Given the description of an element on the screen output the (x, y) to click on. 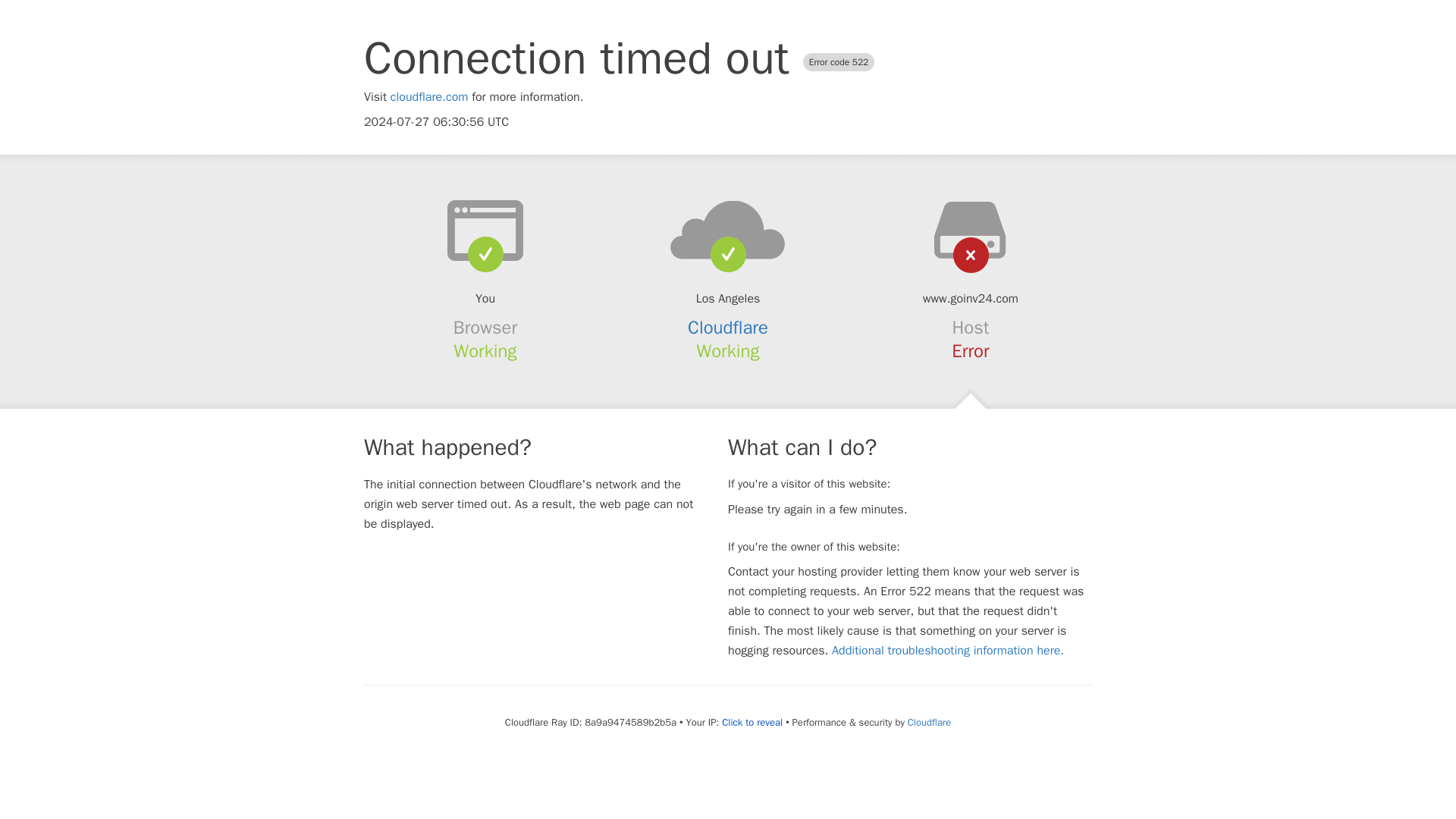
Additional troubleshooting information here. (947, 650)
cloudflare.com (429, 96)
Cloudflare (727, 327)
Click to reveal (752, 722)
Cloudflare (928, 721)
